Given the description of an element on the screen output the (x, y) to click on. 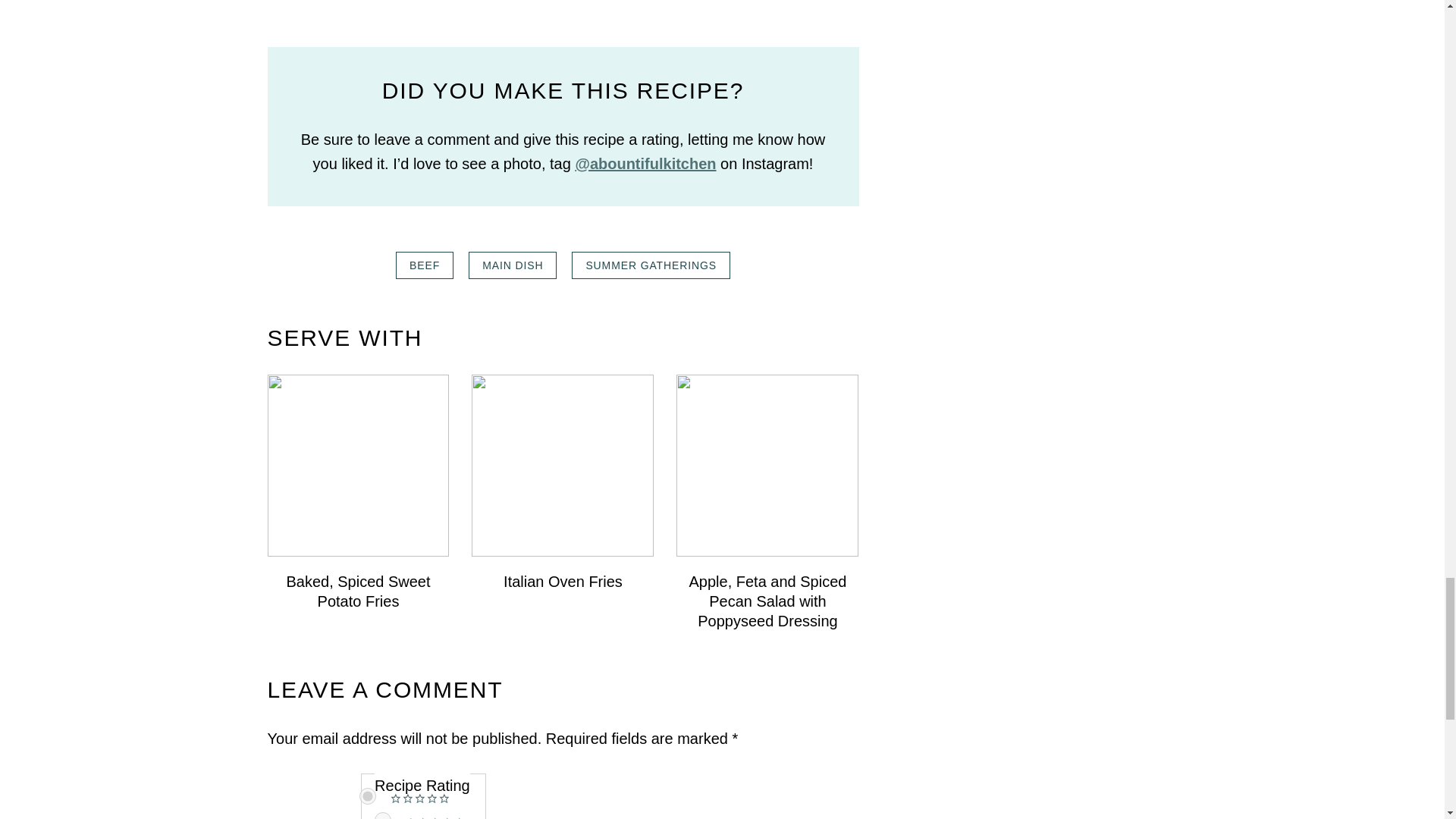
1 (382, 815)
0 (367, 795)
